Given the description of an element on the screen output the (x, y) to click on. 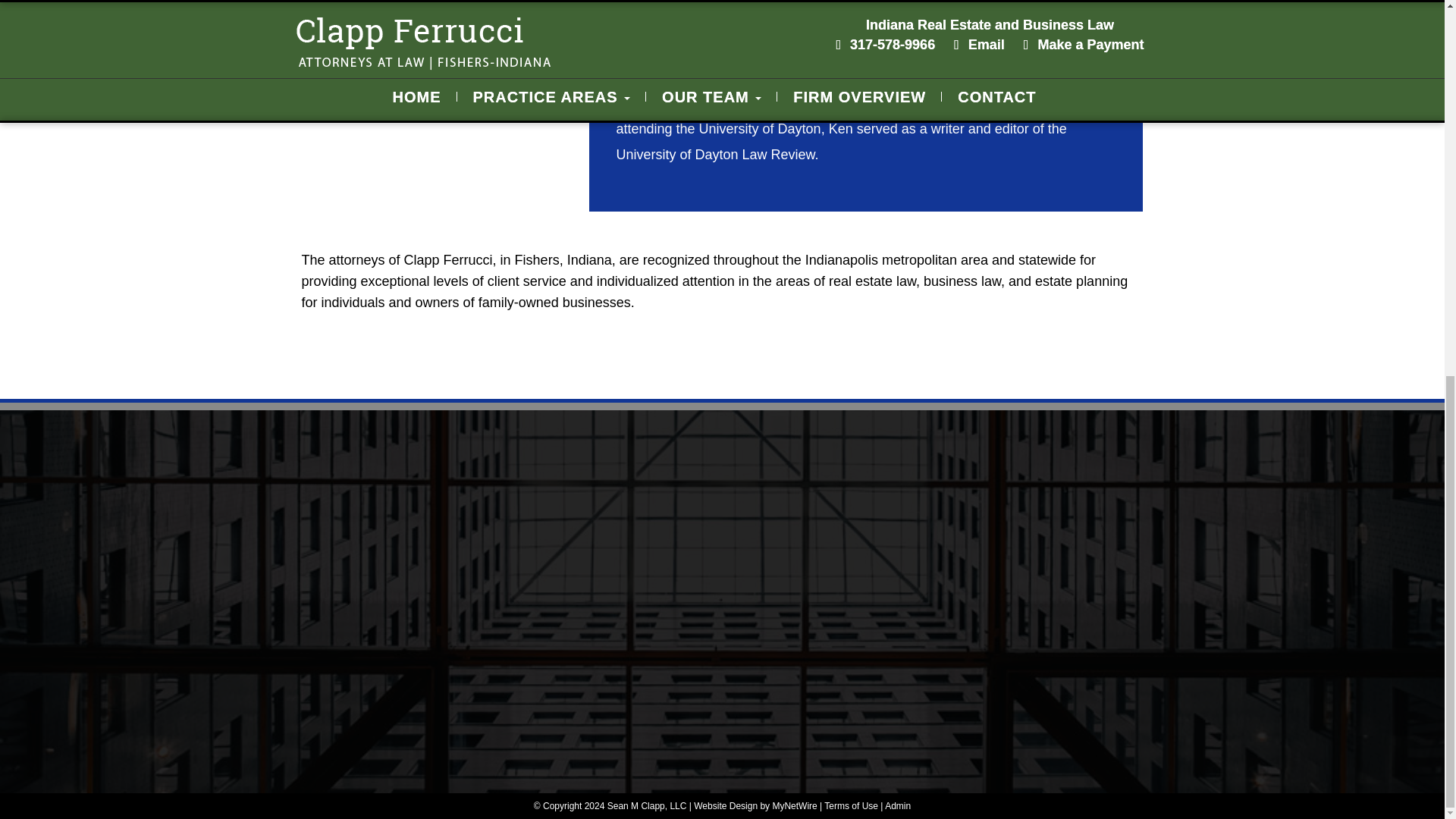
Sean M Clapp, LLC (647, 805)
Terms of Use (850, 805)
MyNetWire (793, 805)
Admin (898, 805)
